Given the description of an element on the screen output the (x, y) to click on. 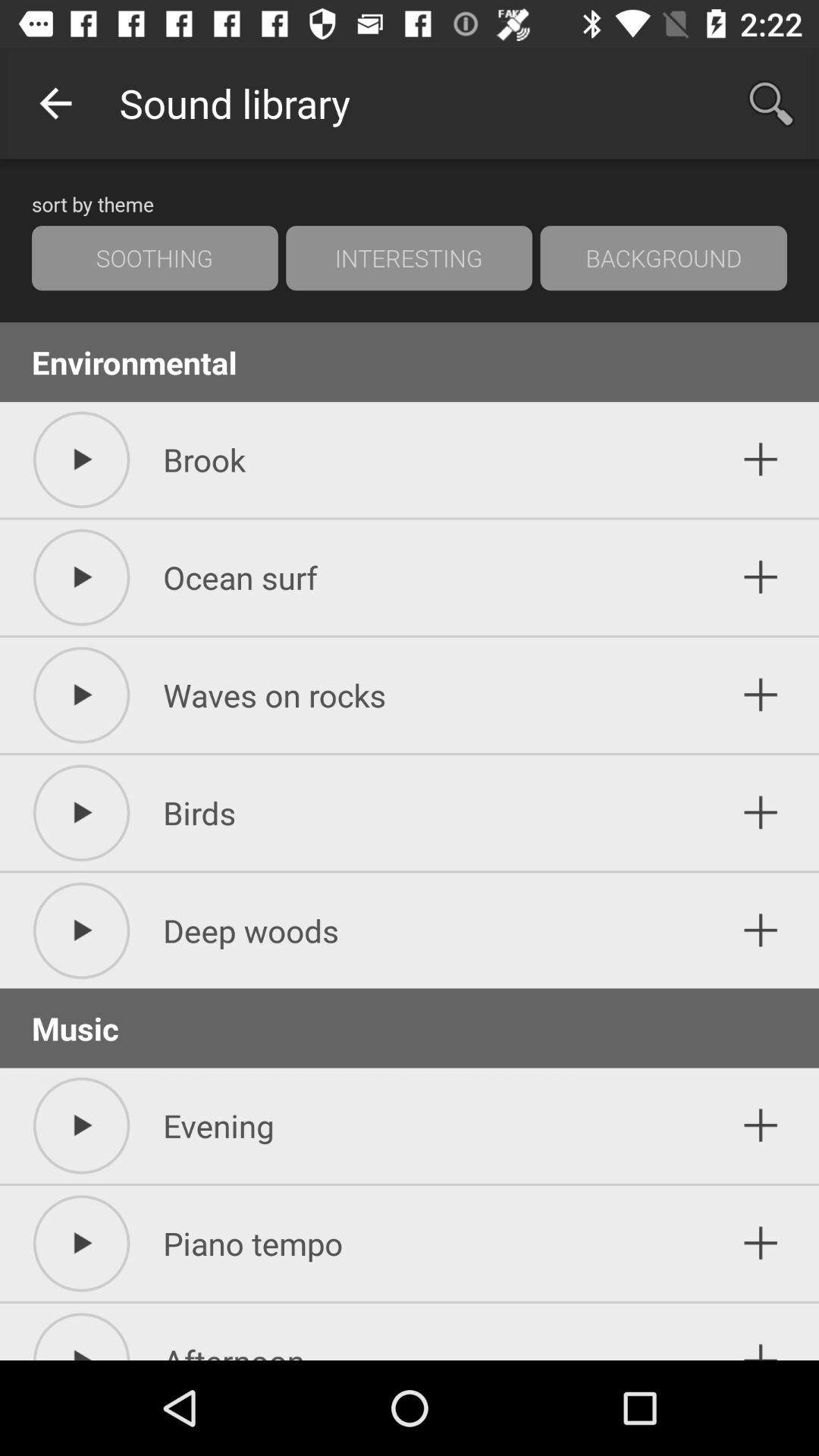
jump to interesting item (409, 257)
